Given the description of an element on the screen output the (x, y) to click on. 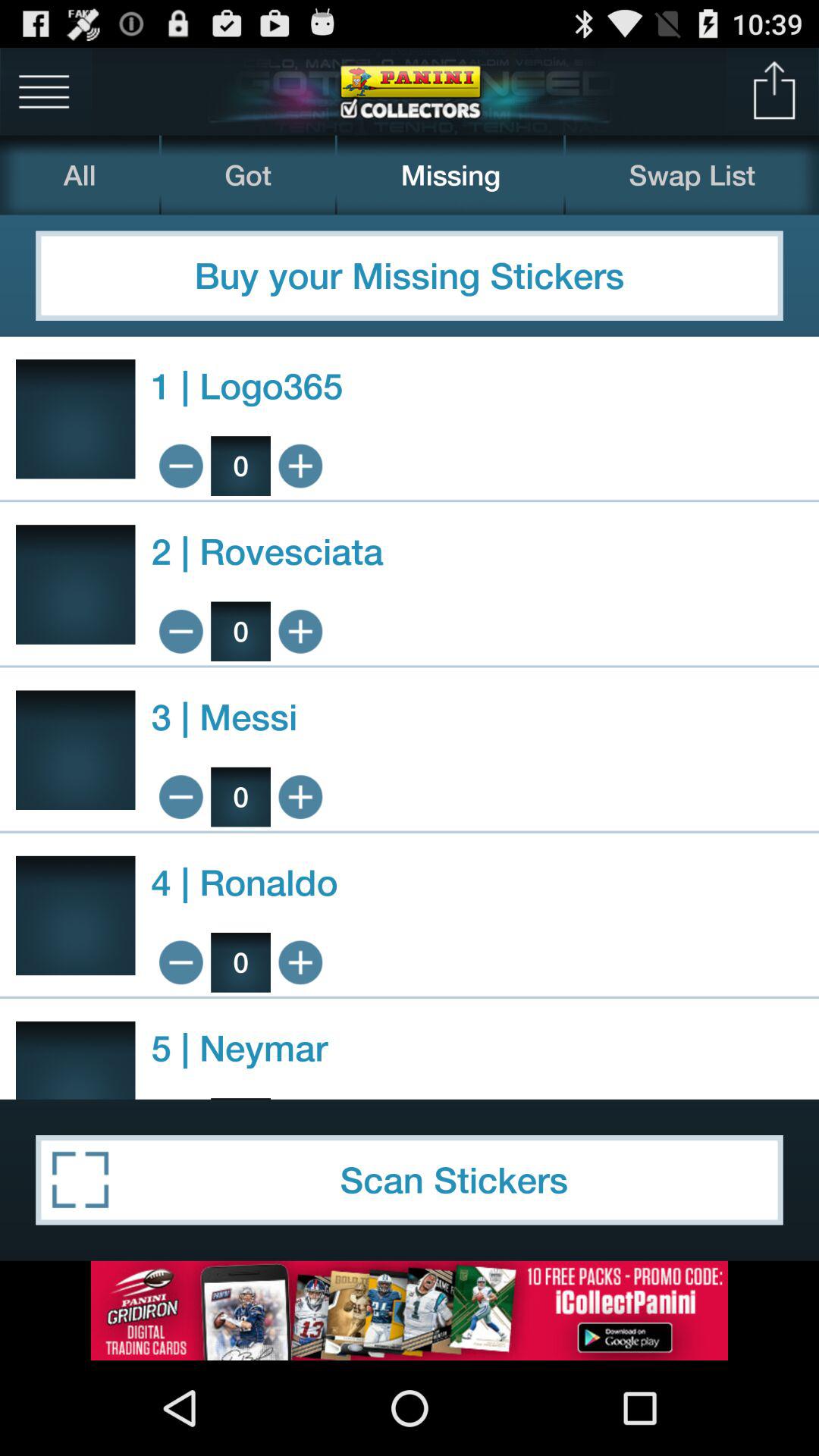
to less the added order by 1 (181, 962)
